Given the description of an element on the screen output the (x, y) to click on. 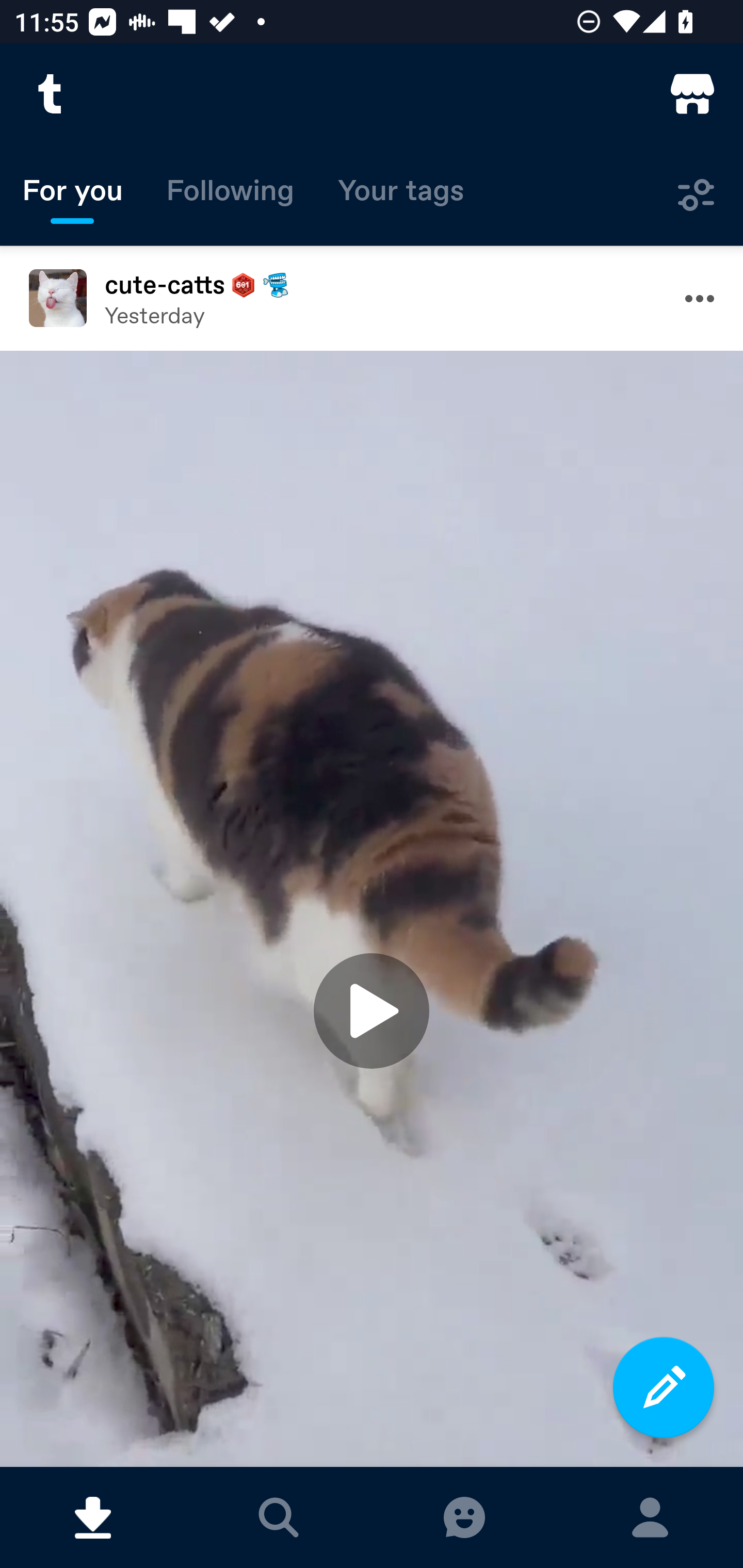
Tumblr (50, 93)
TumblrMart (692, 94)
Following (230, 195)
Your tags (400, 195)
Compose a new post (663, 1387)
DASHBOARD (92, 1517)
EXPLORE (278, 1517)
MESSAGES (464, 1517)
ACCOUNT (650, 1517)
